Given the description of an element on the screen output the (x, y) to click on. 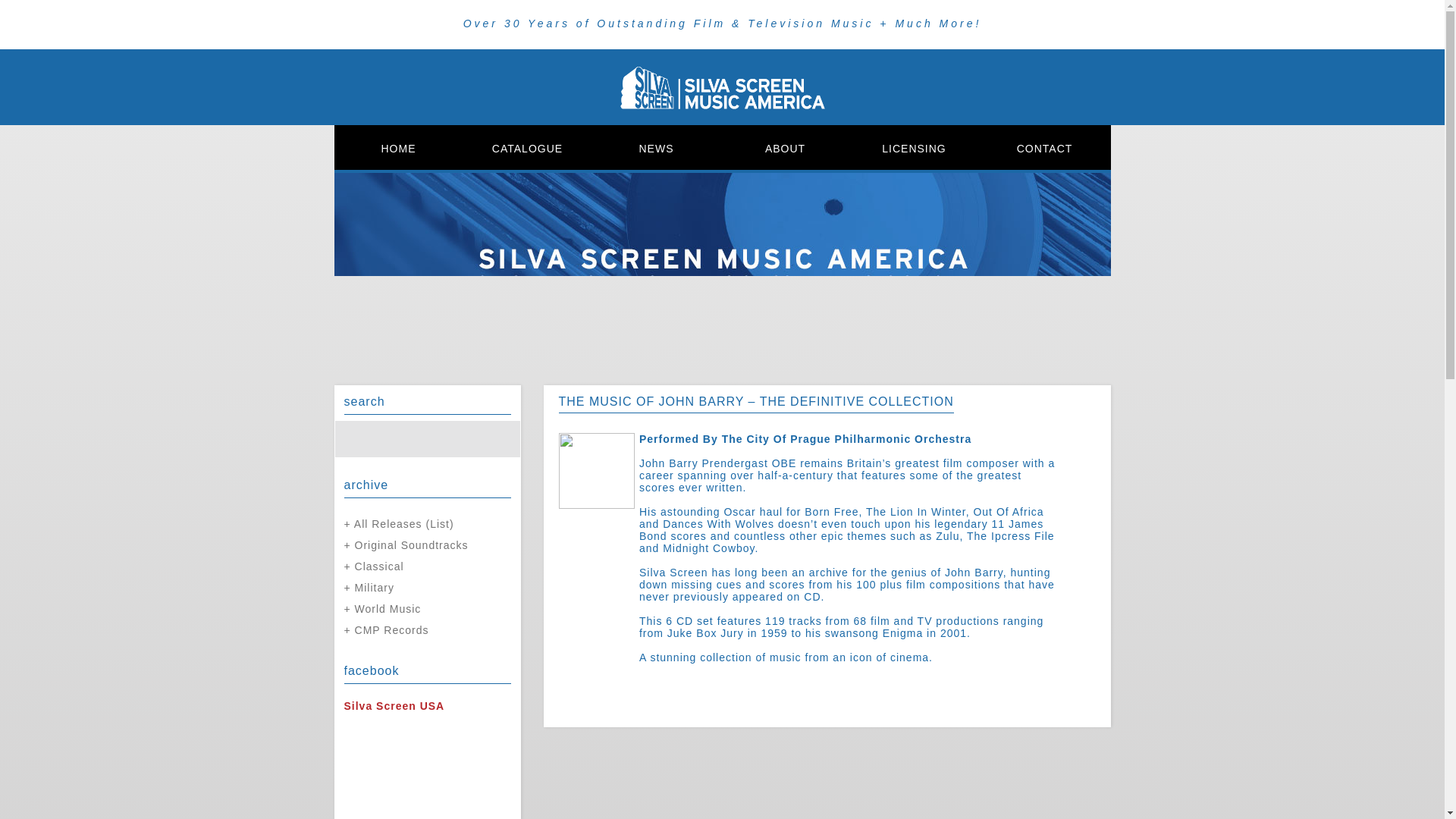
HOME (398, 147)
NEWS (655, 147)
LICENSING (913, 147)
Silva Screen USA (394, 705)
ABOUT (784, 147)
CATALOGUE (527, 147)
CONTACT (1043, 147)
